Given the description of an element on the screen output the (x, y) to click on. 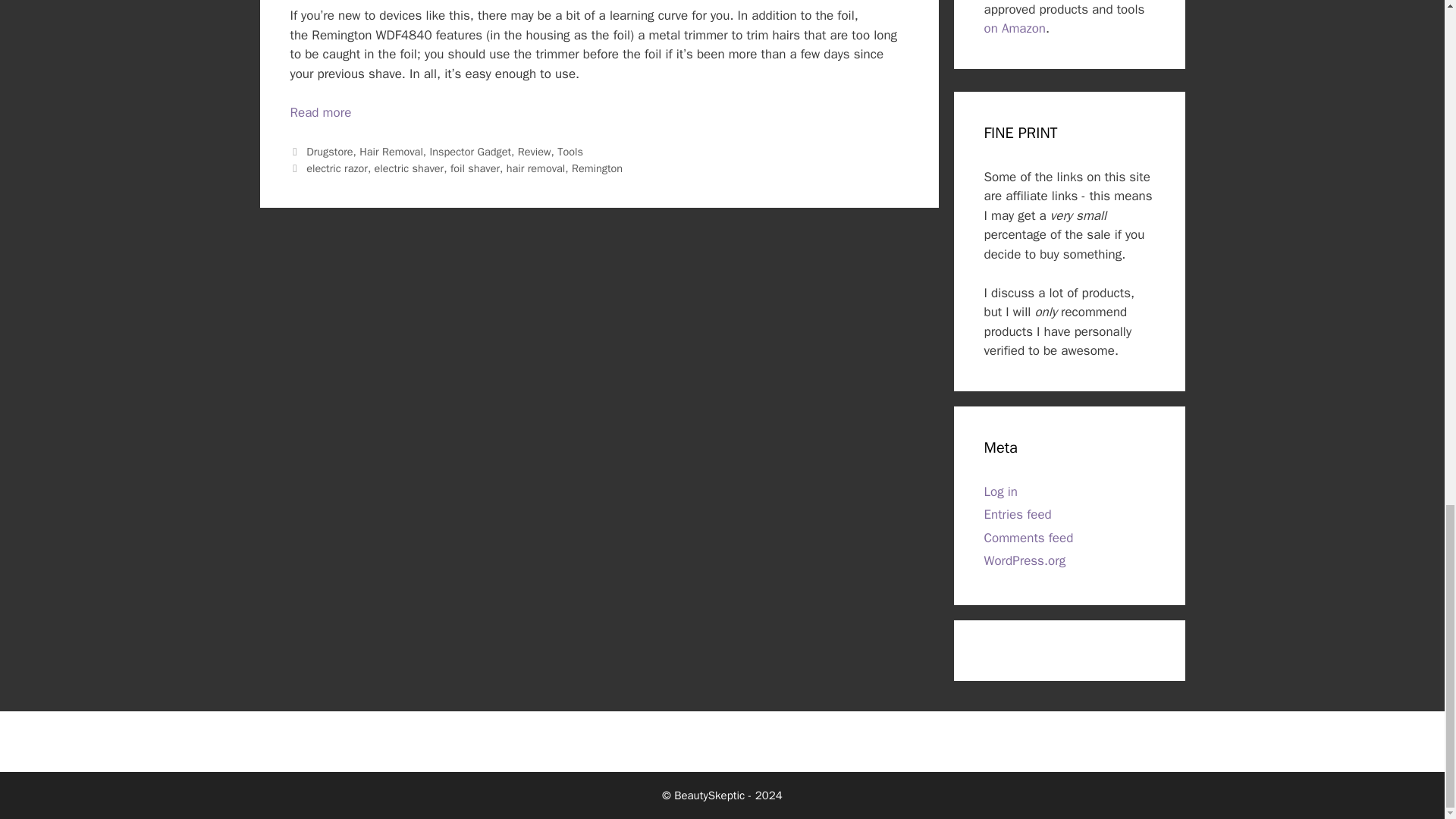
foil shaver (474, 168)
electric razor (336, 168)
Entries feed (1017, 514)
Review (534, 151)
Hair Removal (391, 151)
Log in (1000, 491)
on Amazon (1015, 28)
Comments feed (1029, 537)
Drugstore (328, 151)
electric shaver (409, 168)
Read more (319, 112)
Tools (570, 151)
WordPress.org (1024, 560)
hair removal (536, 168)
Inspector Gadget (470, 151)
